Given the description of an element on the screen output the (x, y) to click on. 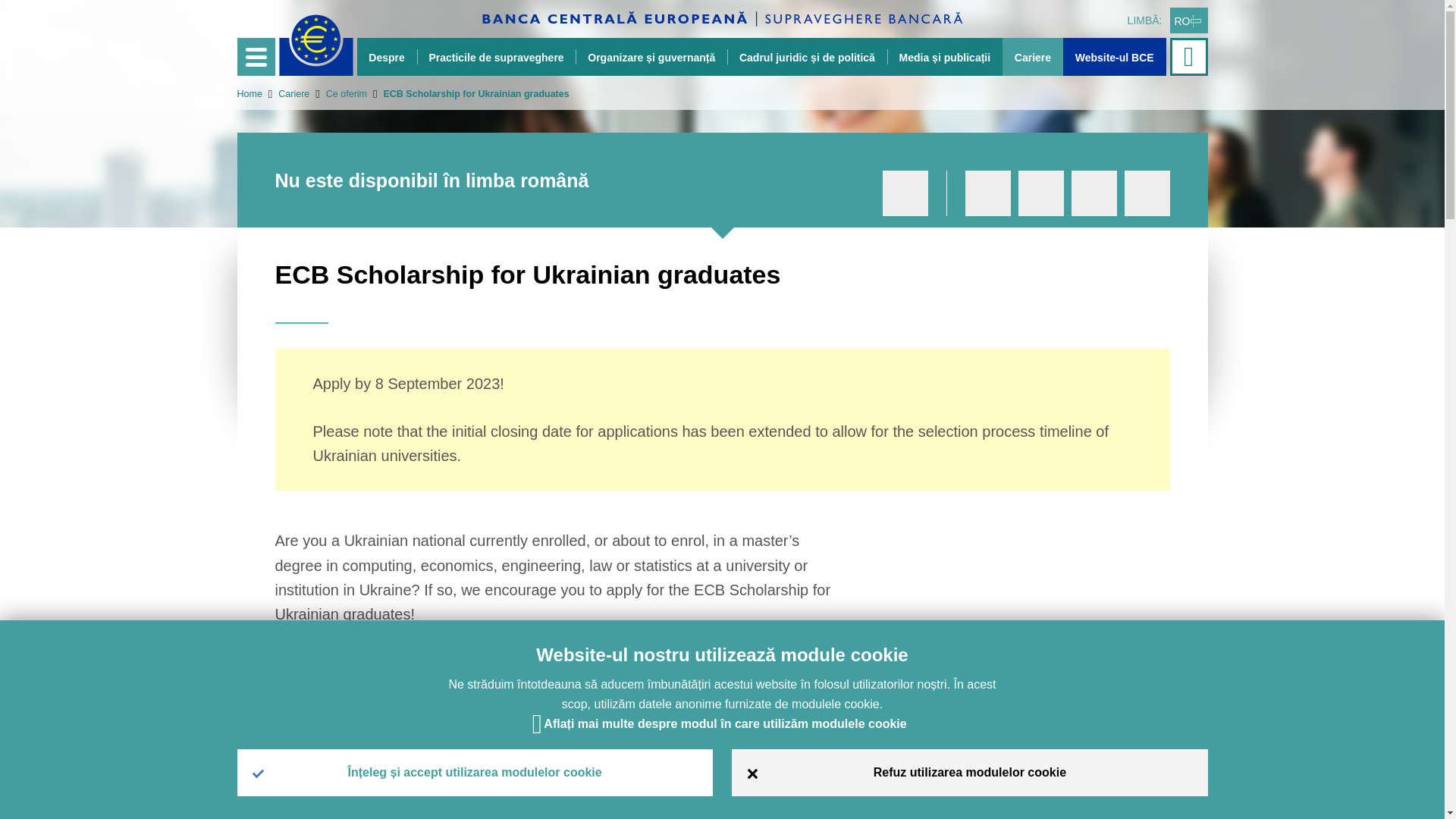
Cariere (285, 93)
Ce oferim (337, 93)
Menu (255, 56)
ECB Scholarship for Ukrainian graduates (467, 93)
Despre (386, 56)
Cariere (1032, 56)
Search (1190, 56)
Website-ul BCE (1114, 56)
Home (248, 93)
Practicile de supraveghere (496, 56)
